Given the description of an element on the screen output the (x, y) to click on. 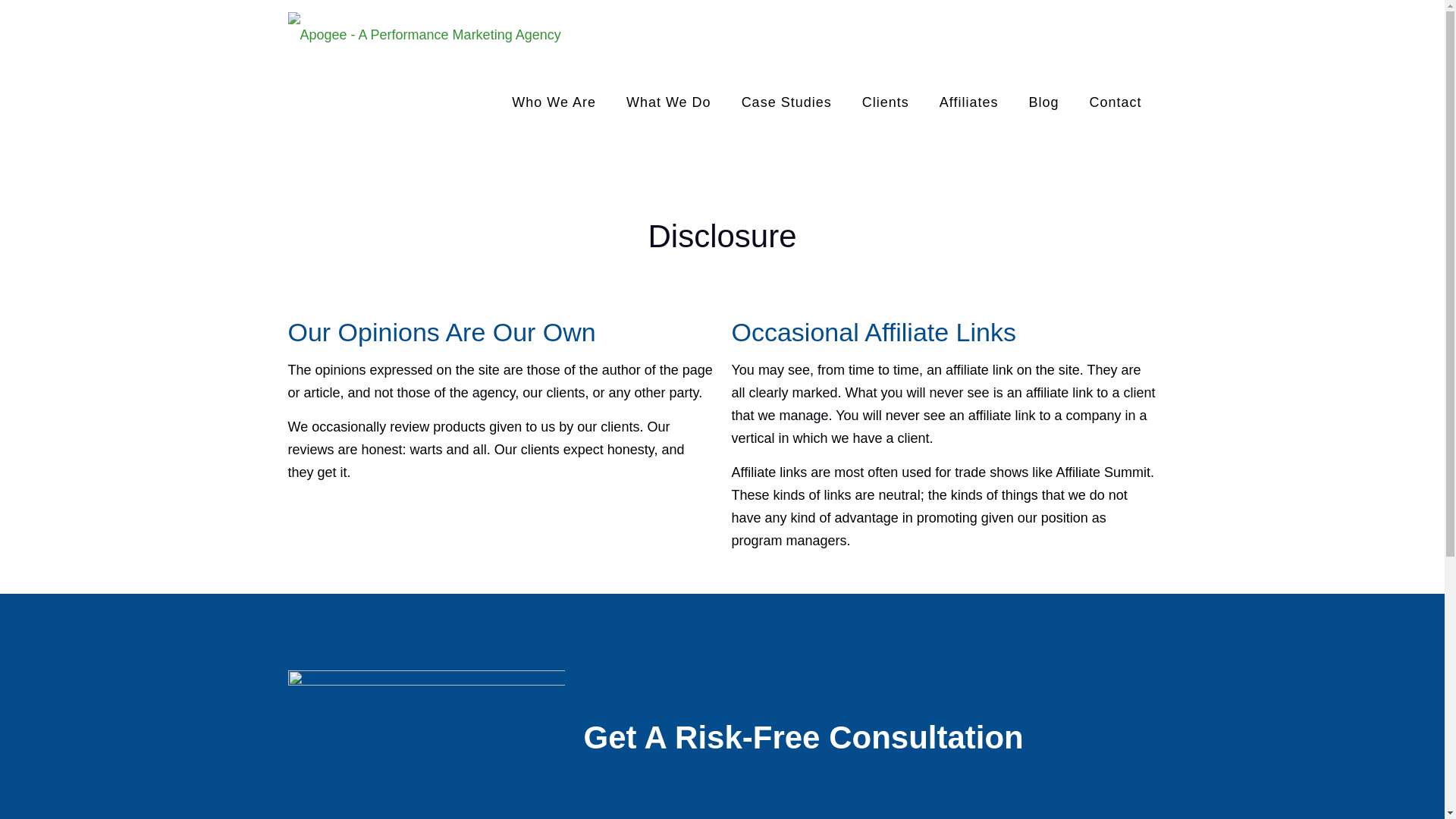
Blog (1043, 101)
Clients (885, 101)
Contact (1115, 101)
Affiliates (968, 101)
Who We Are (553, 101)
What We Do (668, 101)
Case Studies (786, 101)
Apogee (424, 33)
